Given the description of an element on the screen output the (x, y) to click on. 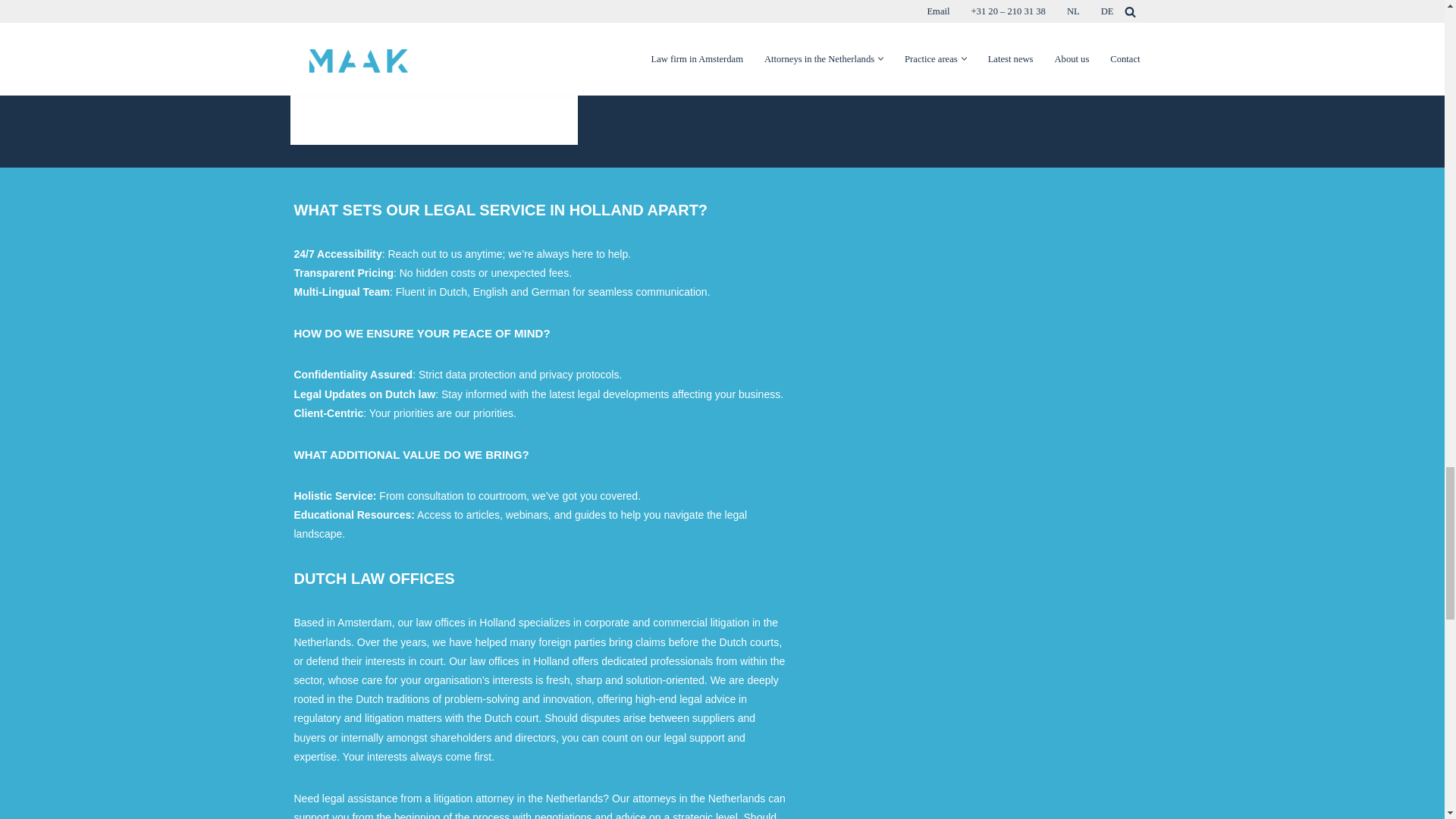
law firm in the Netherlands (972, 293)
